Given the description of an element on the screen output the (x, y) to click on. 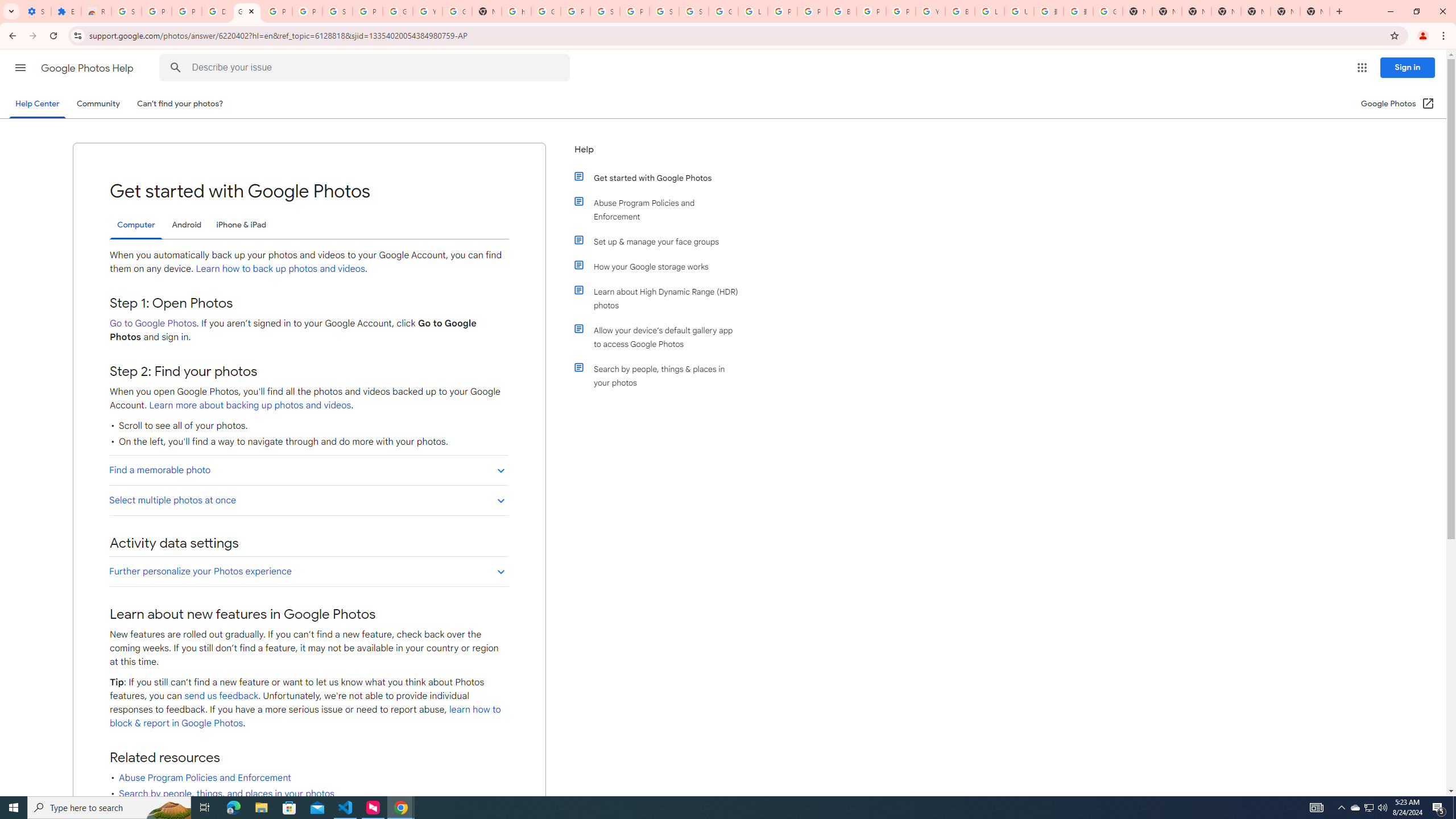
Sign in - Google Accounts (126, 11)
iPhone & iPad (240, 224)
Can't find your photos? (180, 103)
Settings - On startup (36, 11)
Sign in - Google Accounts (664, 11)
New Tab (1226, 11)
Get started with Google Photos (661, 177)
